Given the description of an element on the screen output the (x, y) to click on. 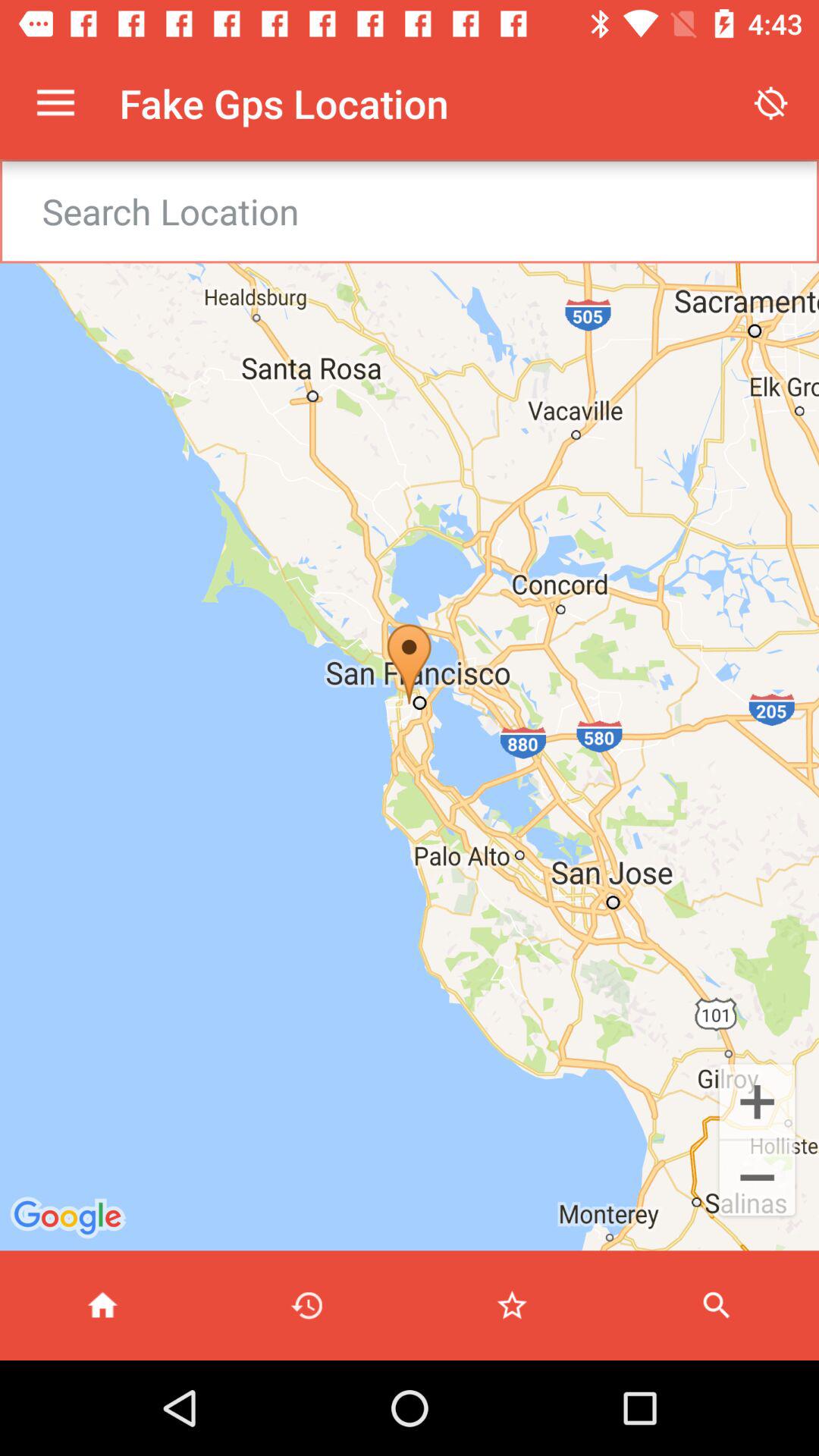
type in location (429, 211)
